Given the description of an element on the screen output the (x, y) to click on. 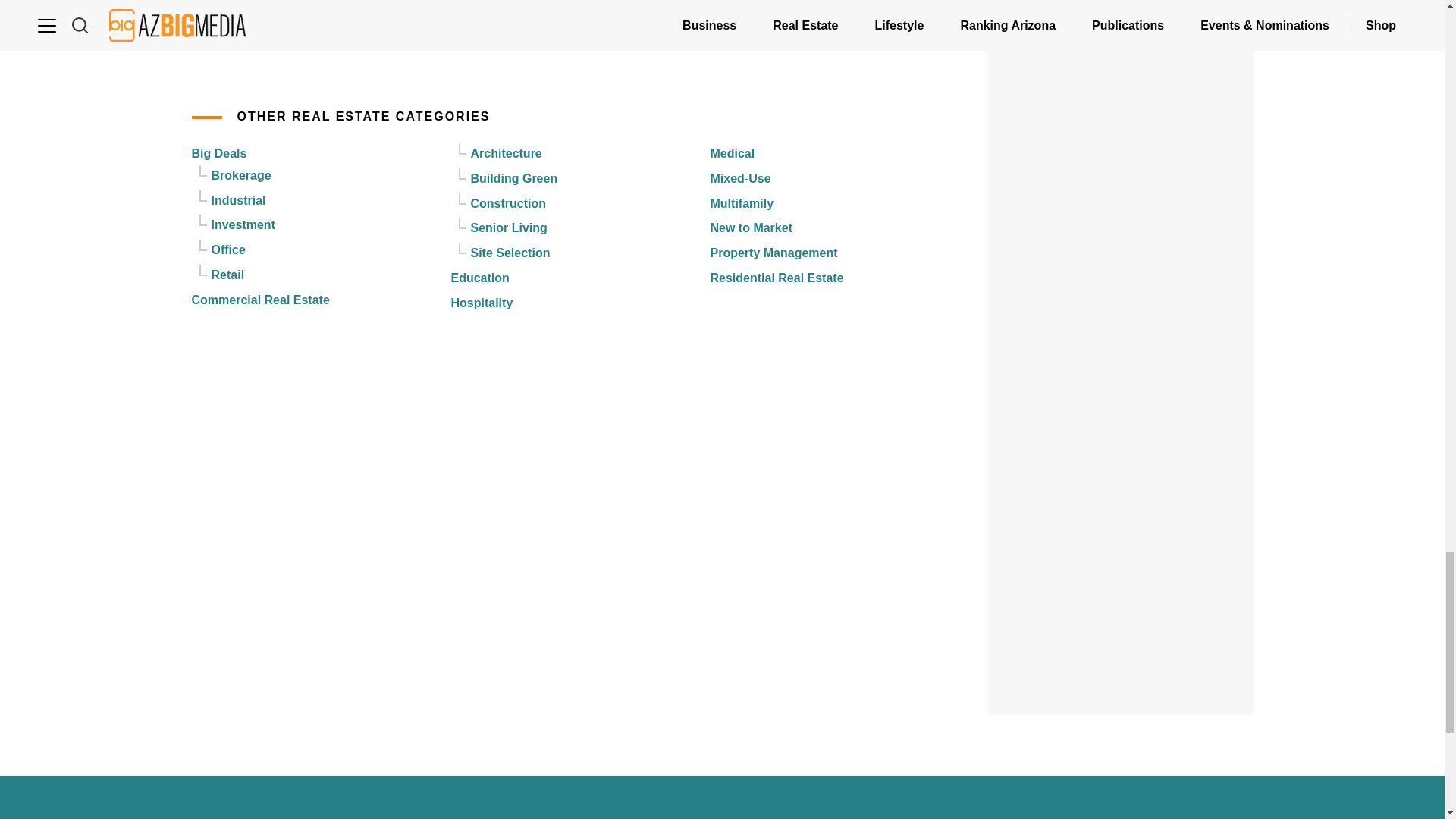
3rd party ad content (1120, 246)
3rd party ad content (1120, 453)
